Given the description of an element on the screen output the (x, y) to click on. 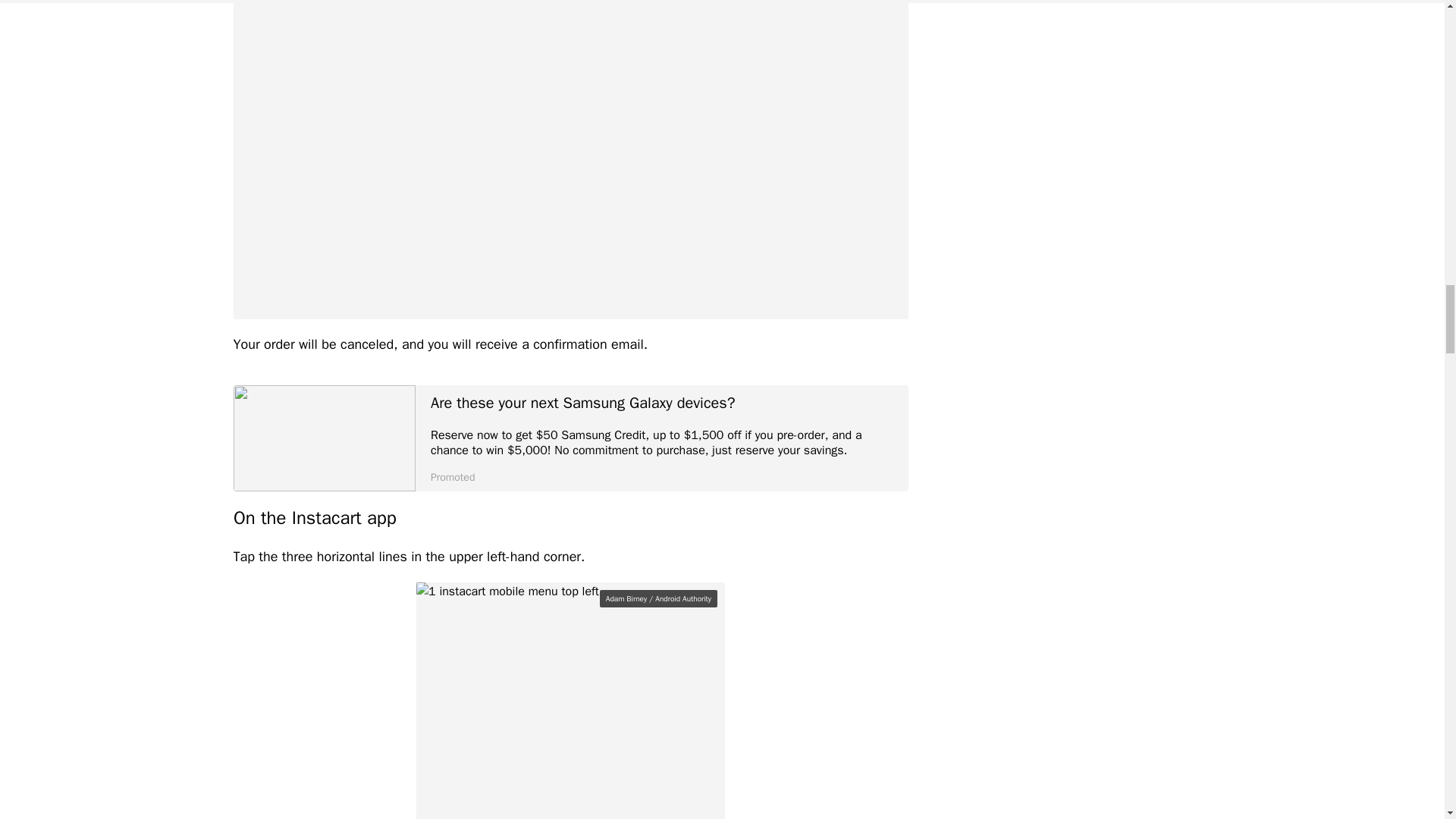
1 instacart mobile menu top left (570, 700)
